Given the description of an element on the screen output the (x, y) to click on. 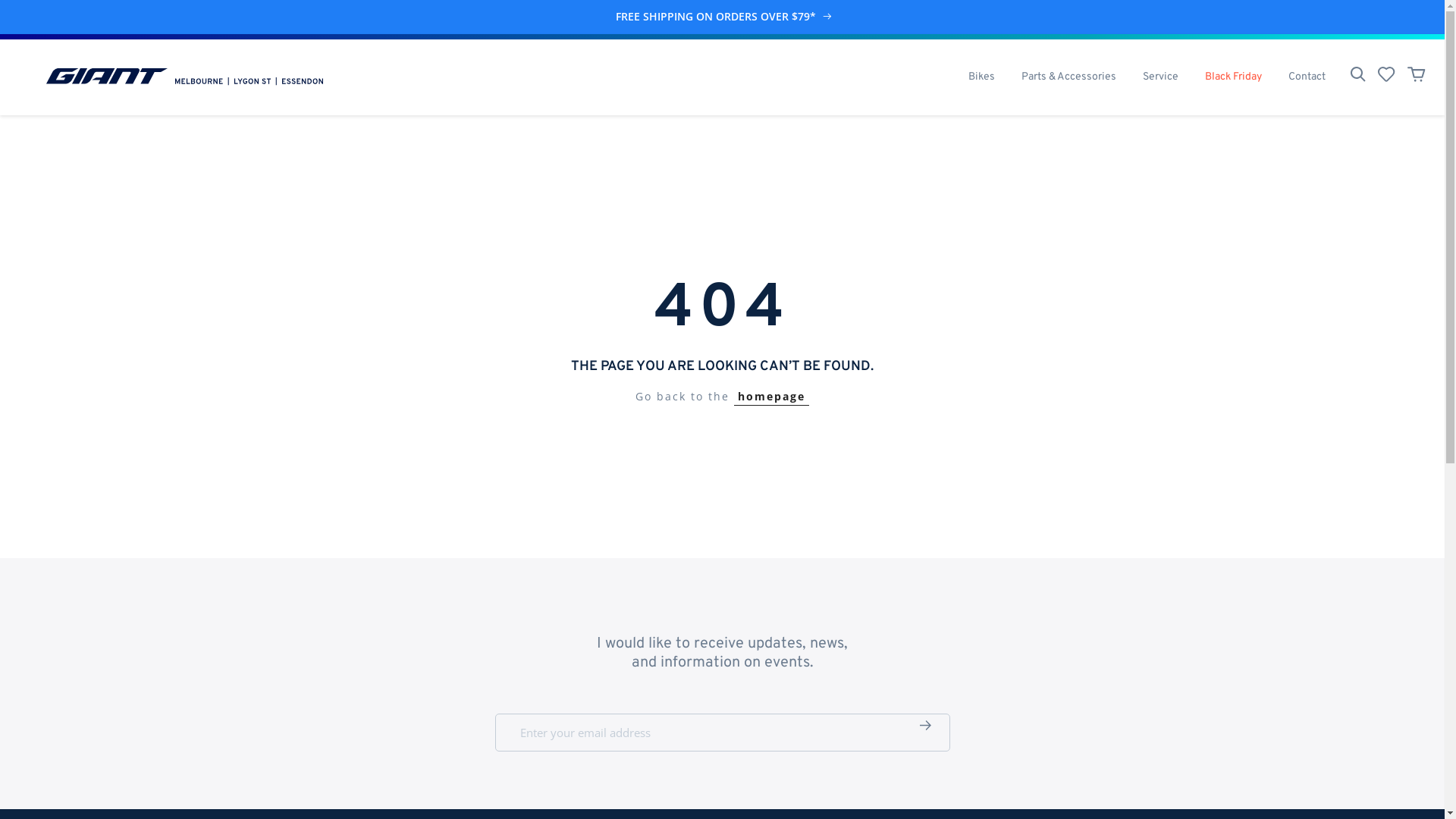
Black Friday Element type: text (1232, 77)
Subscribe Element type: text (925, 725)
homepage Element type: text (771, 396)
Service Element type: text (1160, 77)
Contact Element type: text (1306, 77)
Bikes Element type: text (980, 77)
Parts & Accessories Element type: text (1068, 77)
